Given the description of an element on the screen output the (x, y) to click on. 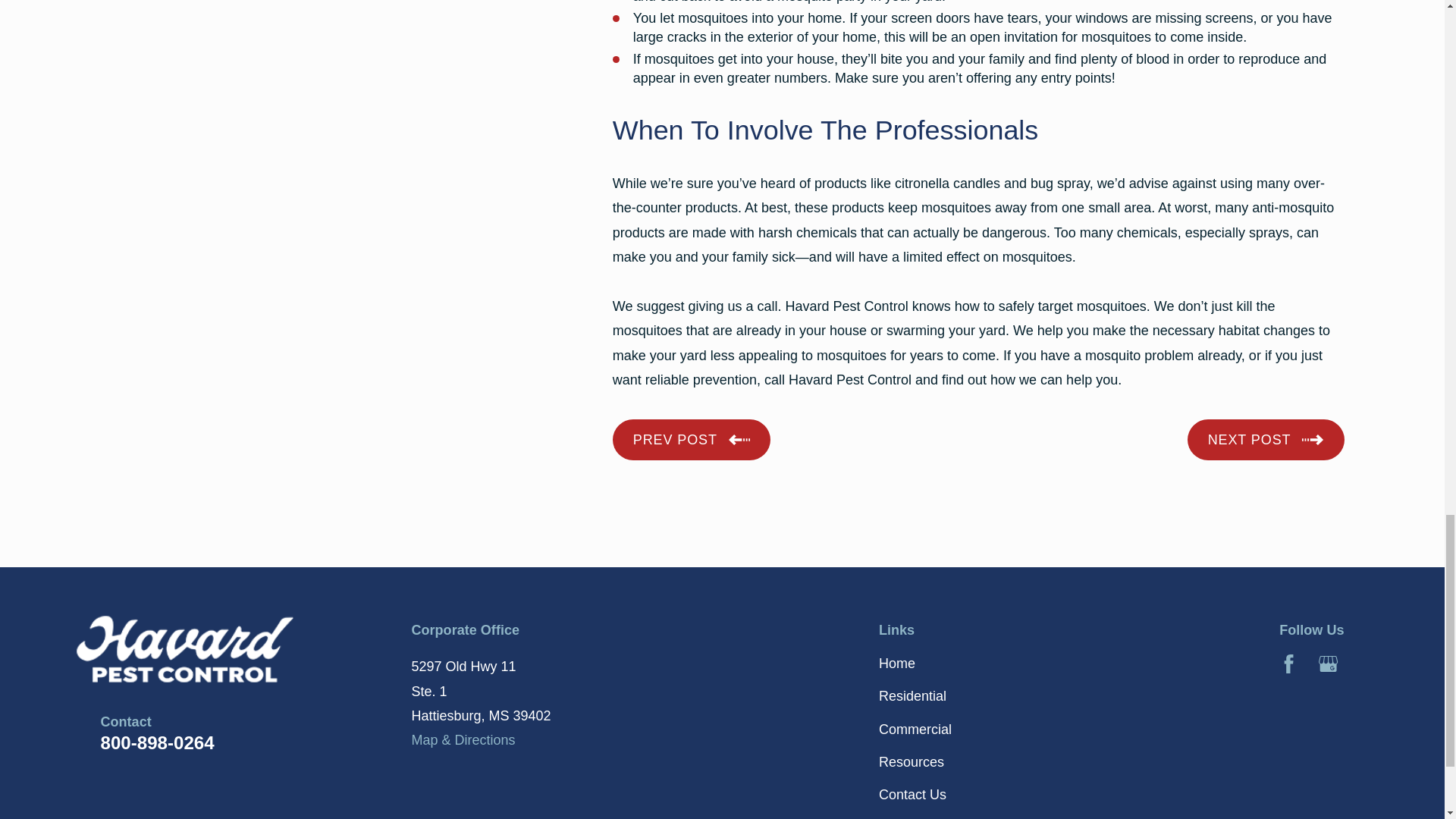
Havard Pest Control (170, 644)
Home (232, 644)
Facebook (1288, 663)
Google Business Profile (1328, 663)
